Given the description of an element on the screen output the (x, y) to click on. 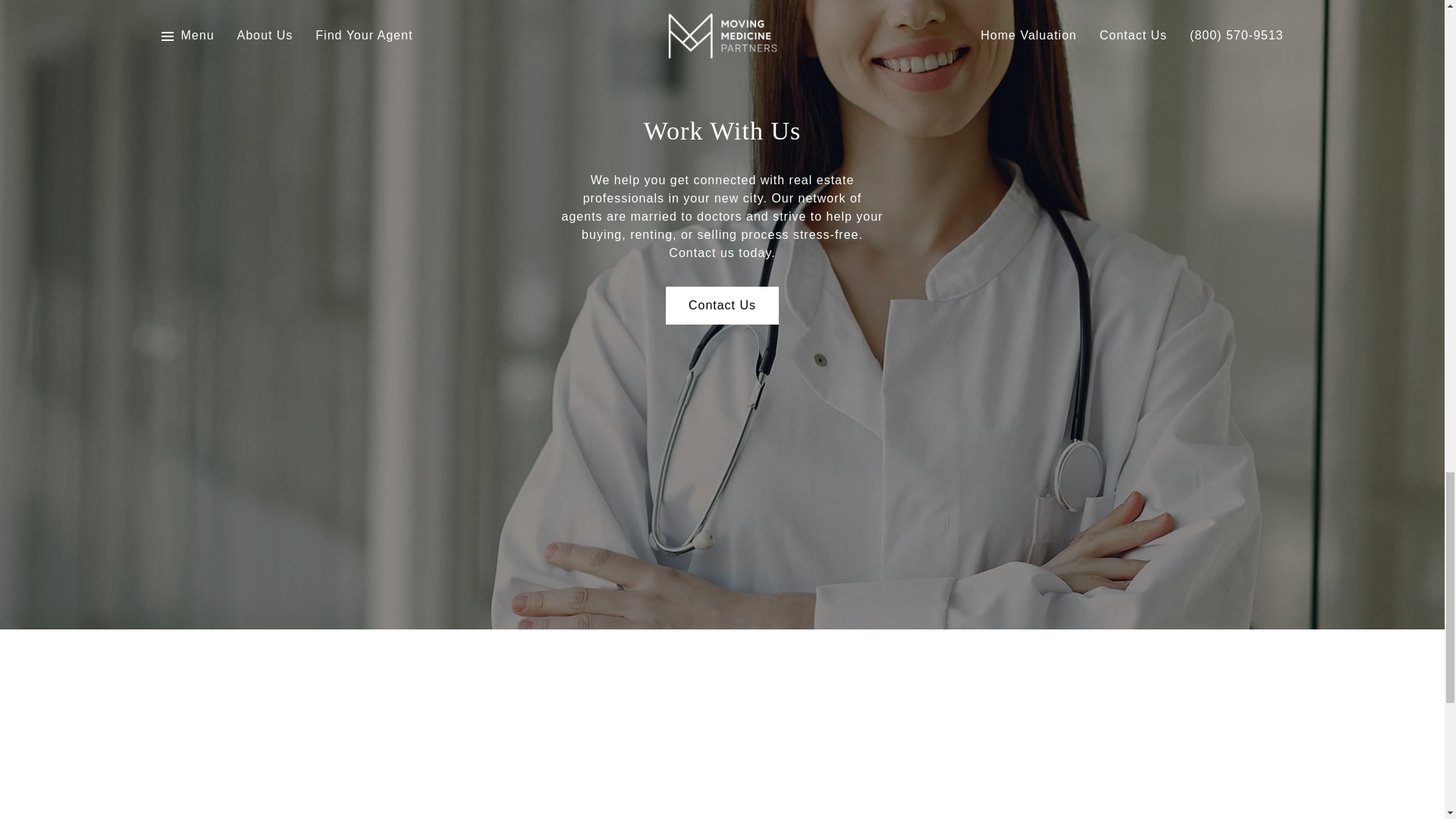
Contact Us (721, 305)
